Given the description of an element on the screen output the (x, y) to click on. 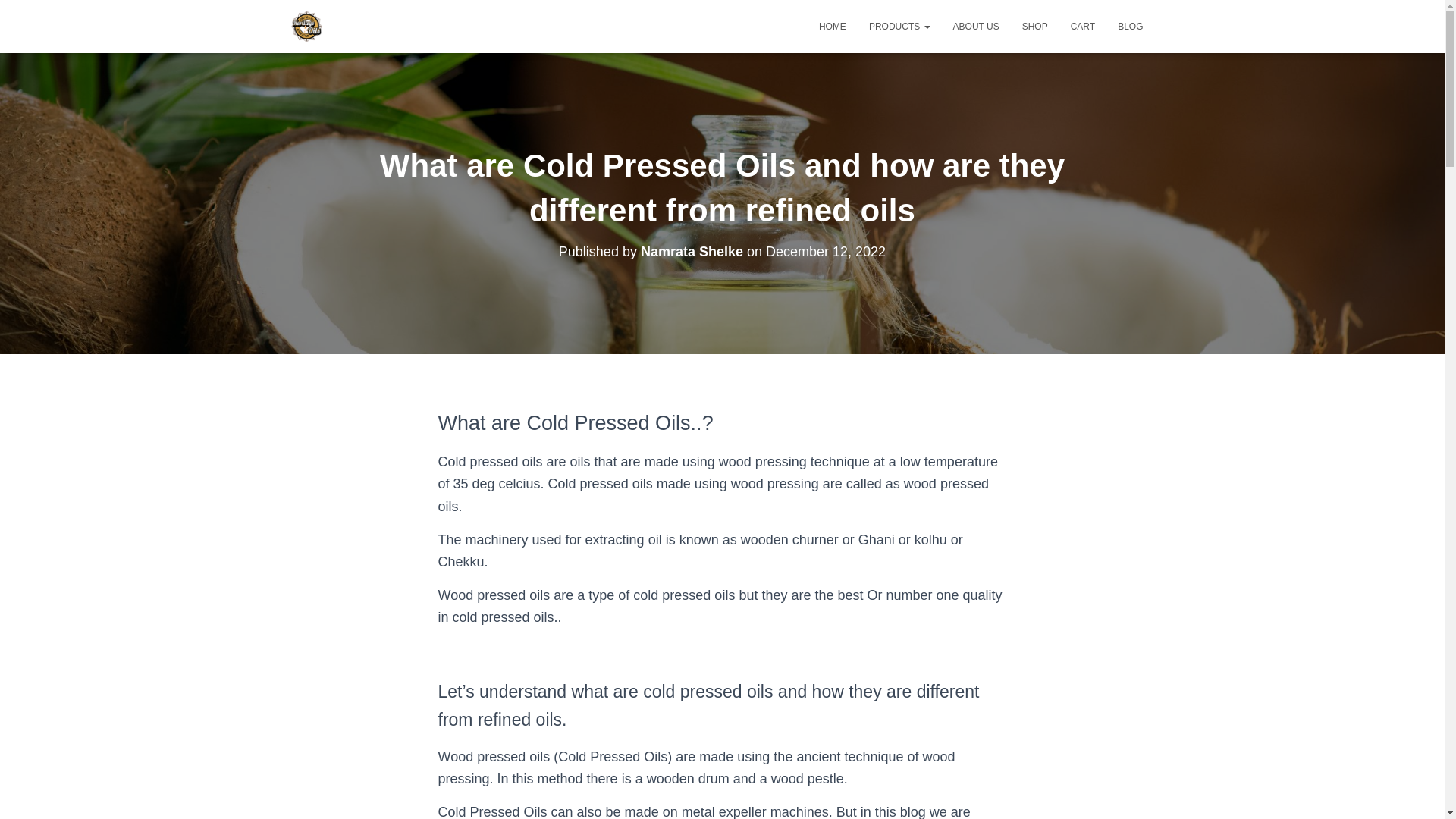
BLOG (1130, 26)
Shop (1034, 26)
Blog (1130, 26)
HOME (832, 26)
Home (832, 26)
Namrata Shelke (691, 251)
CART (1082, 26)
Cart (1082, 26)
SHOP (1034, 26)
Heritage Oils (306, 26)
PRODUCTS (899, 26)
Products (899, 26)
About Us (976, 26)
ABOUT US (976, 26)
